Given the description of an element on the screen output the (x, y) to click on. 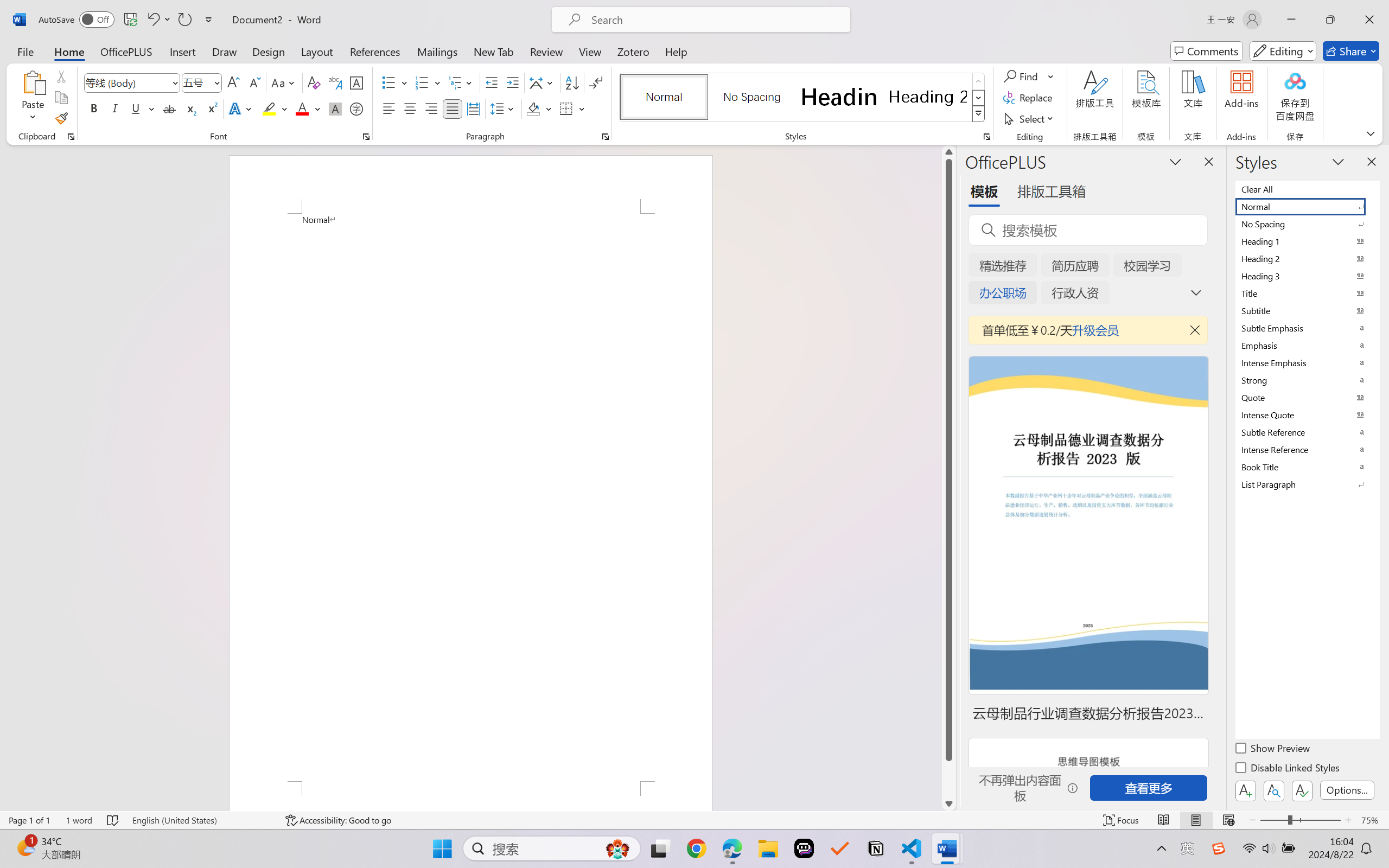
Replace... (1029, 97)
Numbering (428, 82)
Font Size (196, 82)
Paste (33, 97)
Clear Formatting (313, 82)
Numbering (421, 82)
Row up (978, 81)
Enclose Characters... (356, 108)
AutomationID: DynamicSearchBoxGleamImage (617, 848)
Line down (948, 803)
Quote (1306, 397)
